Given the description of an element on the screen output the (x, y) to click on. 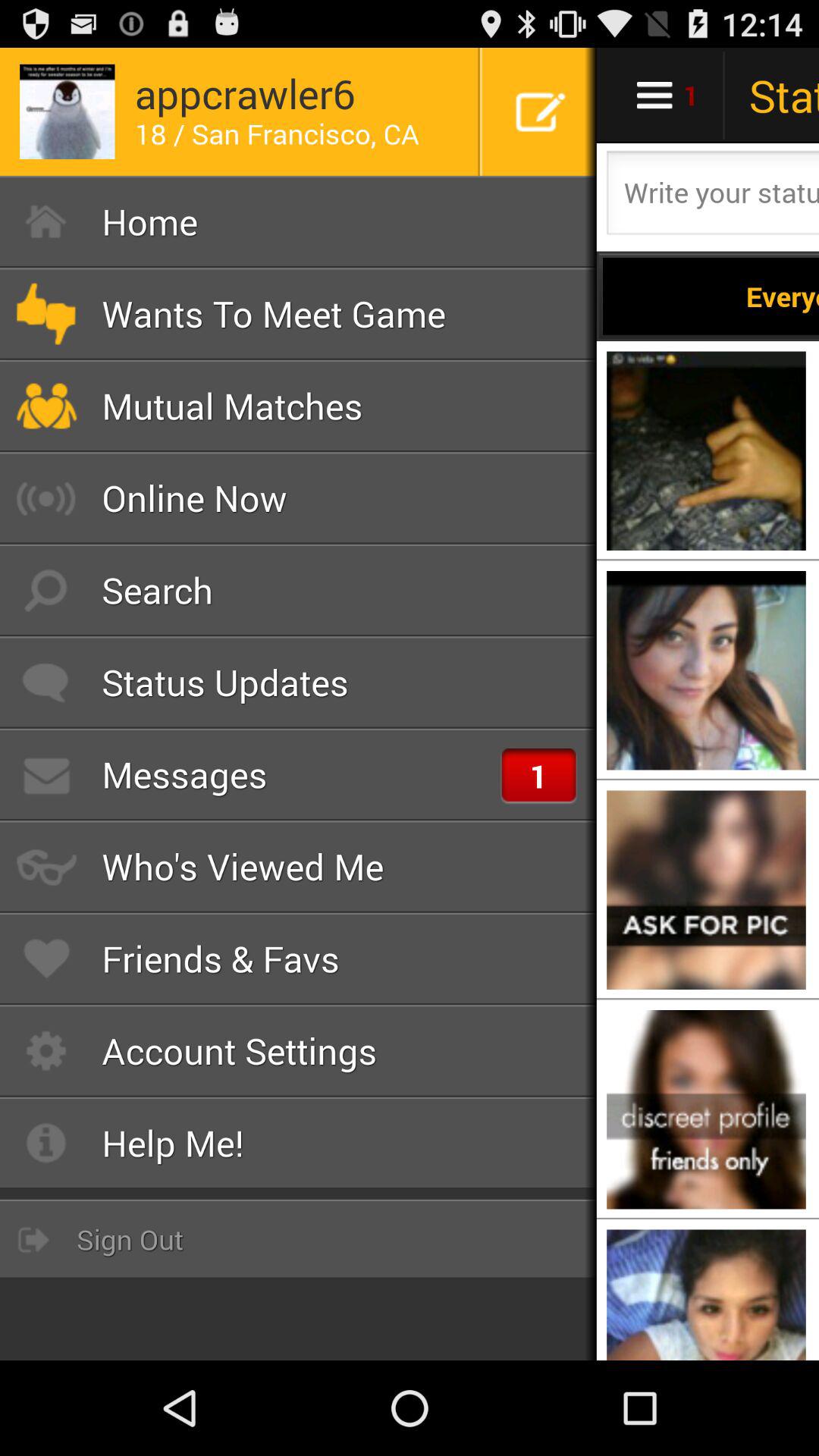
status space (710, 197)
